Given the description of an element on the screen output the (x, y) to click on. 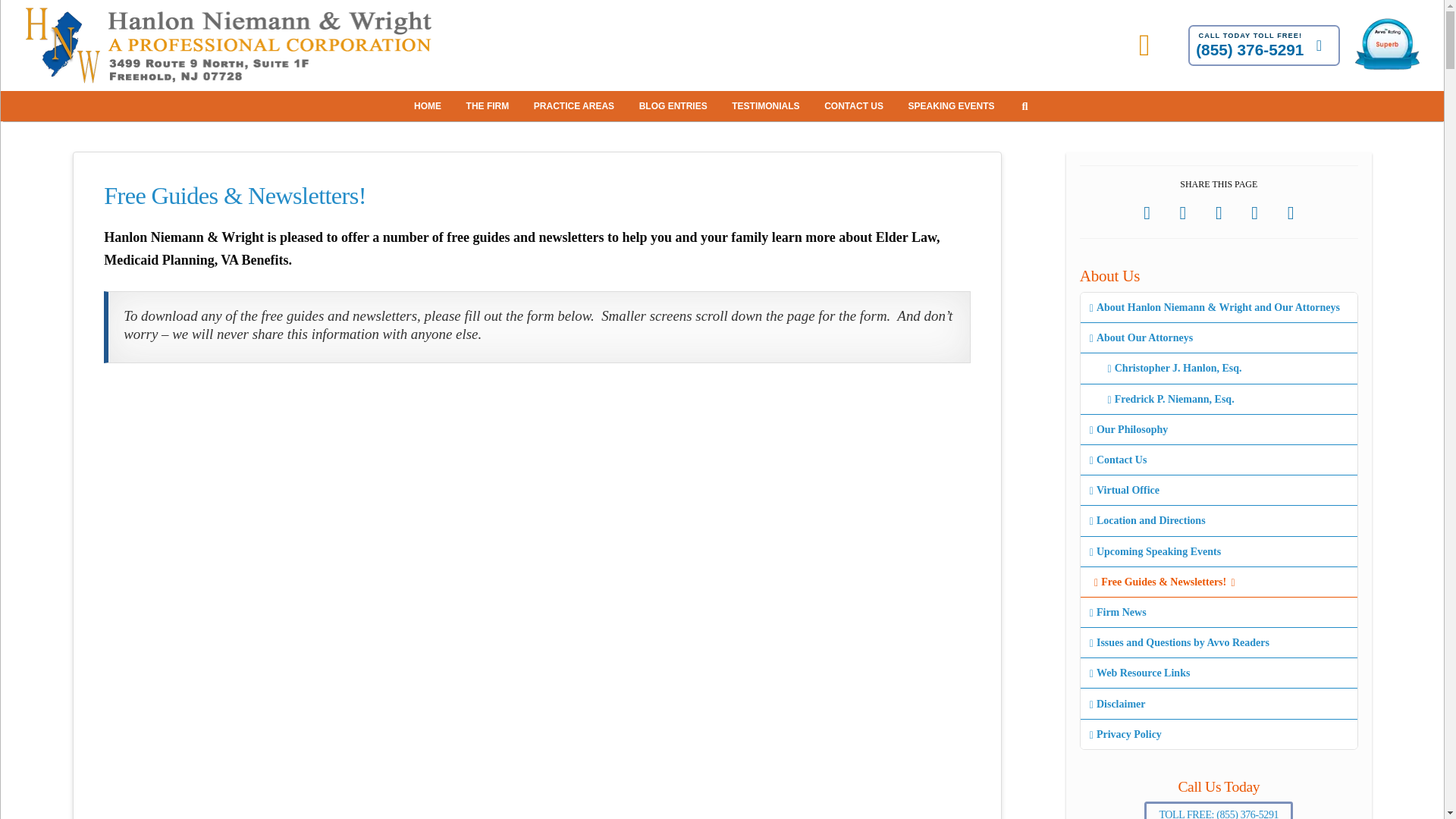
BLOG ENTRIES (674, 105)
Christopher J. Hanlon, Esq. (1218, 368)
PRACTICE AREAS (575, 105)
THE FIRM (489, 105)
HOME (429, 105)
TESTIMONIALS (767, 105)
CONTACT US (856, 105)
Fredrick P. Niemann, Esq. (1218, 399)
SPEAKING EVENTS (953, 105)
About Our Attorneys (1218, 337)
